Given the description of an element on the screen output the (x, y) to click on. 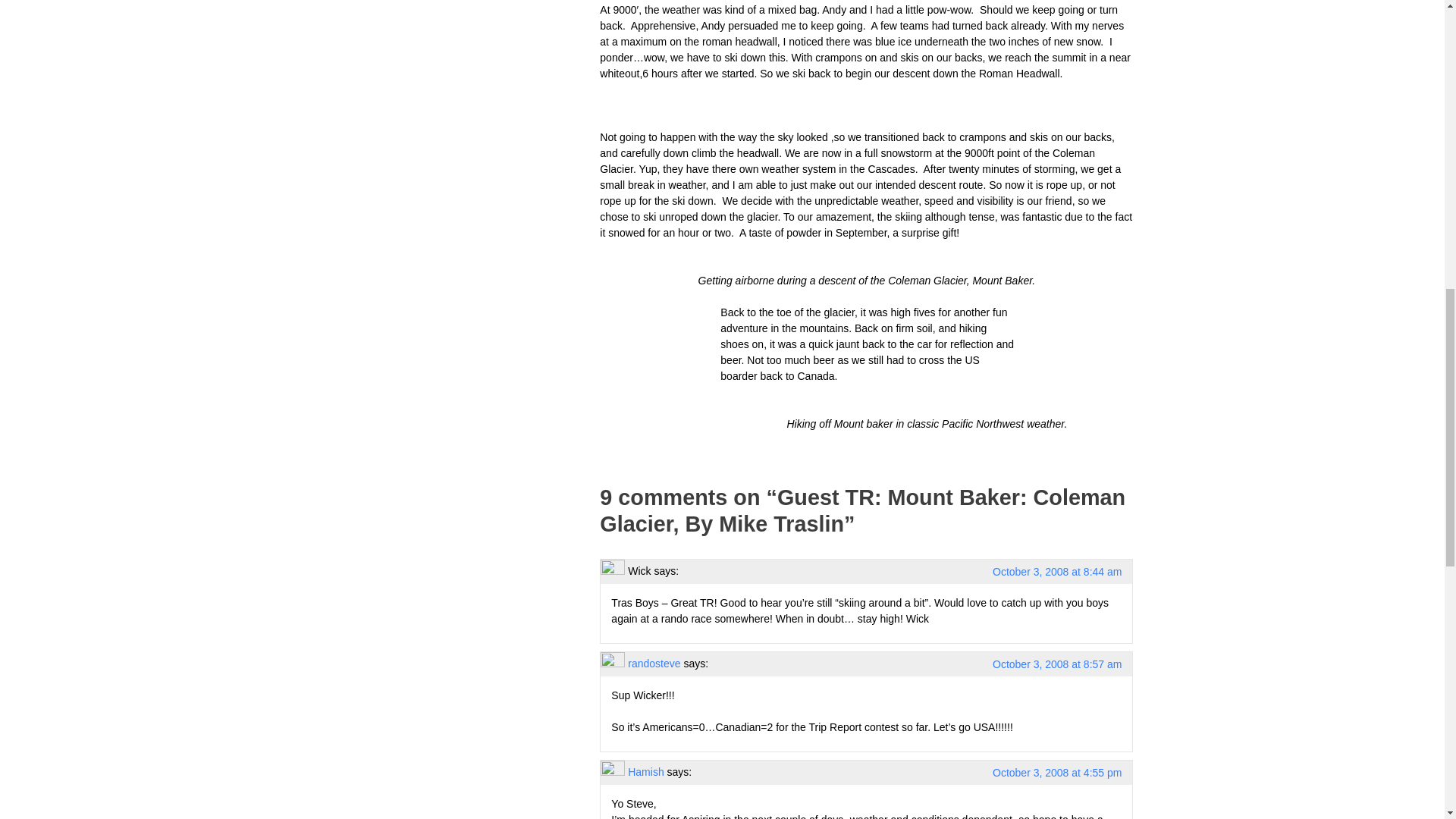
Nearing the summit of Mount Baker  (865, 105)
Hiking off Mount Baker  (868, 408)
Traslins on Mount Baker (656, 360)
Getting airborn on Mount Baker  (865, 265)
Milking it on Mount Baker (1077, 358)
